Given the description of an element on the screen output the (x, y) to click on. 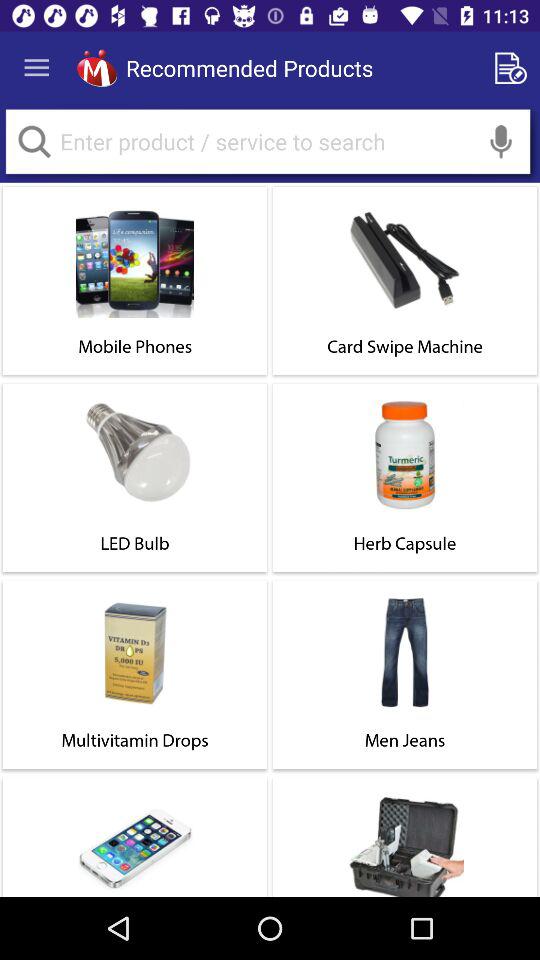
choose app to the left of the recommended products (96, 67)
